Given the description of an element on the screen output the (x, y) to click on. 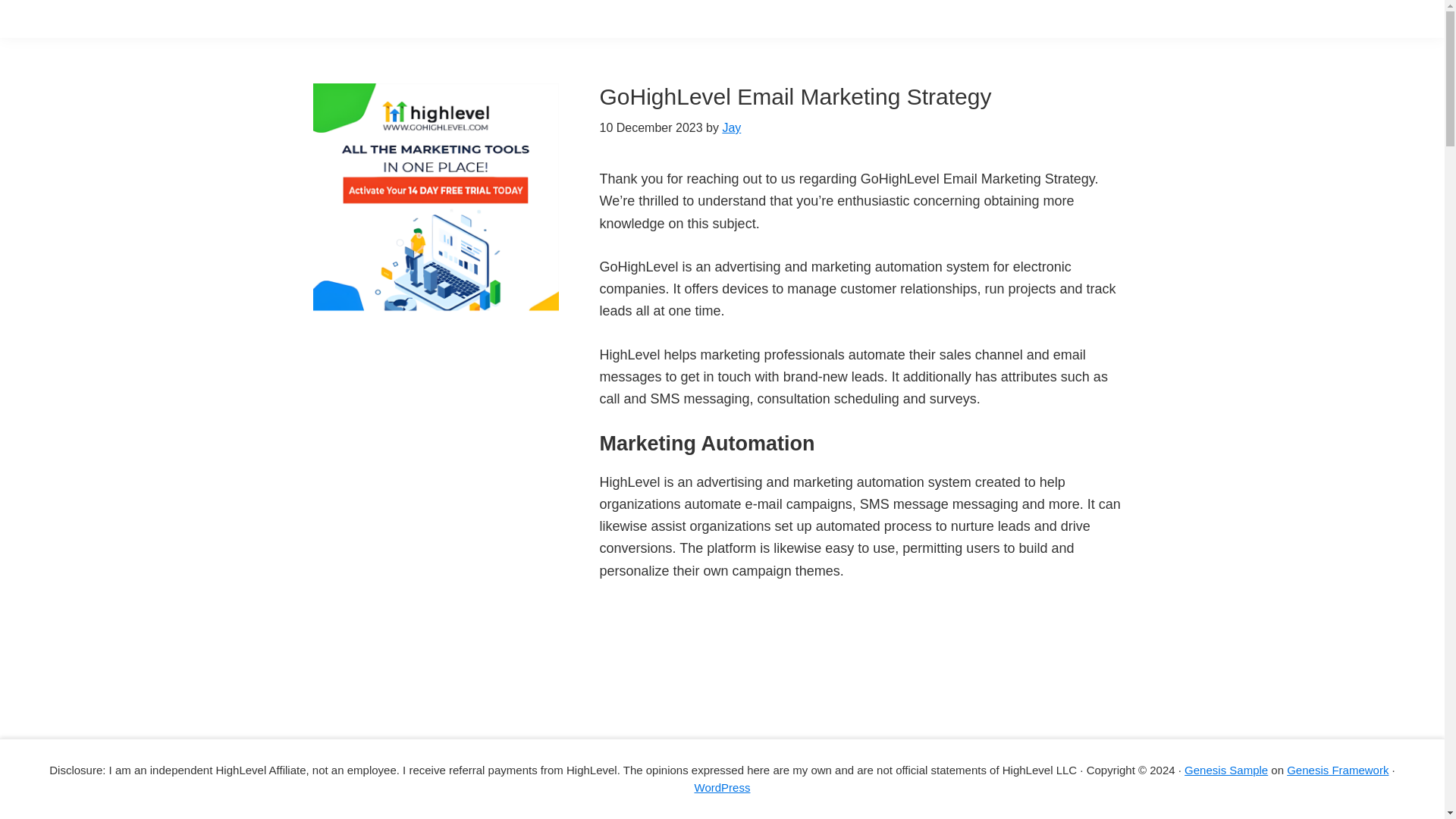
Jay (731, 127)
Genesis Sample (1226, 769)
Genesis Framework (1338, 769)
WordPress (722, 787)
Welcome To HighLevel (788, 709)
